Given the description of an element on the screen output the (x, y) to click on. 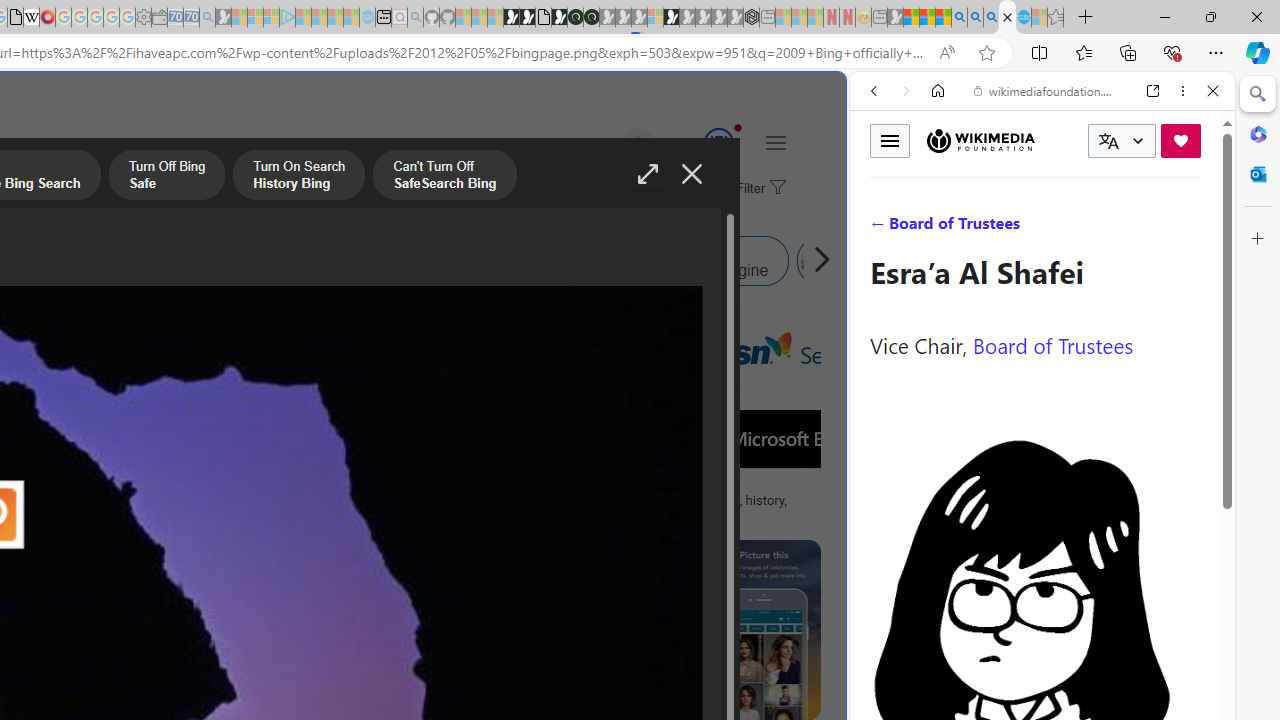
Toggle menu (890, 140)
Https Bing Search Q MSN (822, 260)
Wiktionary (1034, 669)
WEB   (882, 228)
Bing Image Search Similar Images (416, 260)
Wikimedia Foundation (980, 141)
